Given the description of an element on the screen output the (x, y) to click on. 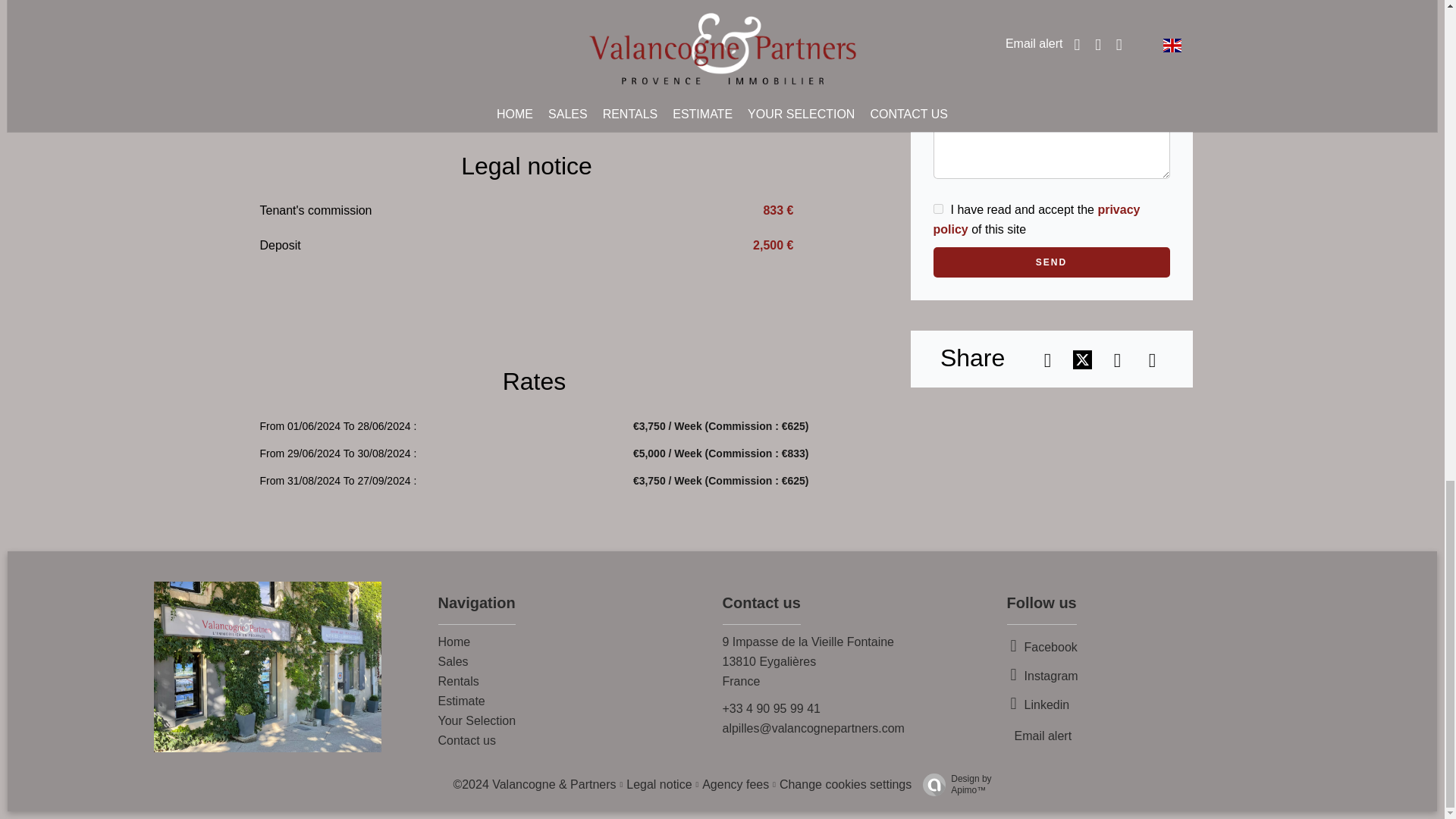
on (937, 208)
privacy policy (1036, 219)
